Given the description of an element on the screen output the (x, y) to click on. 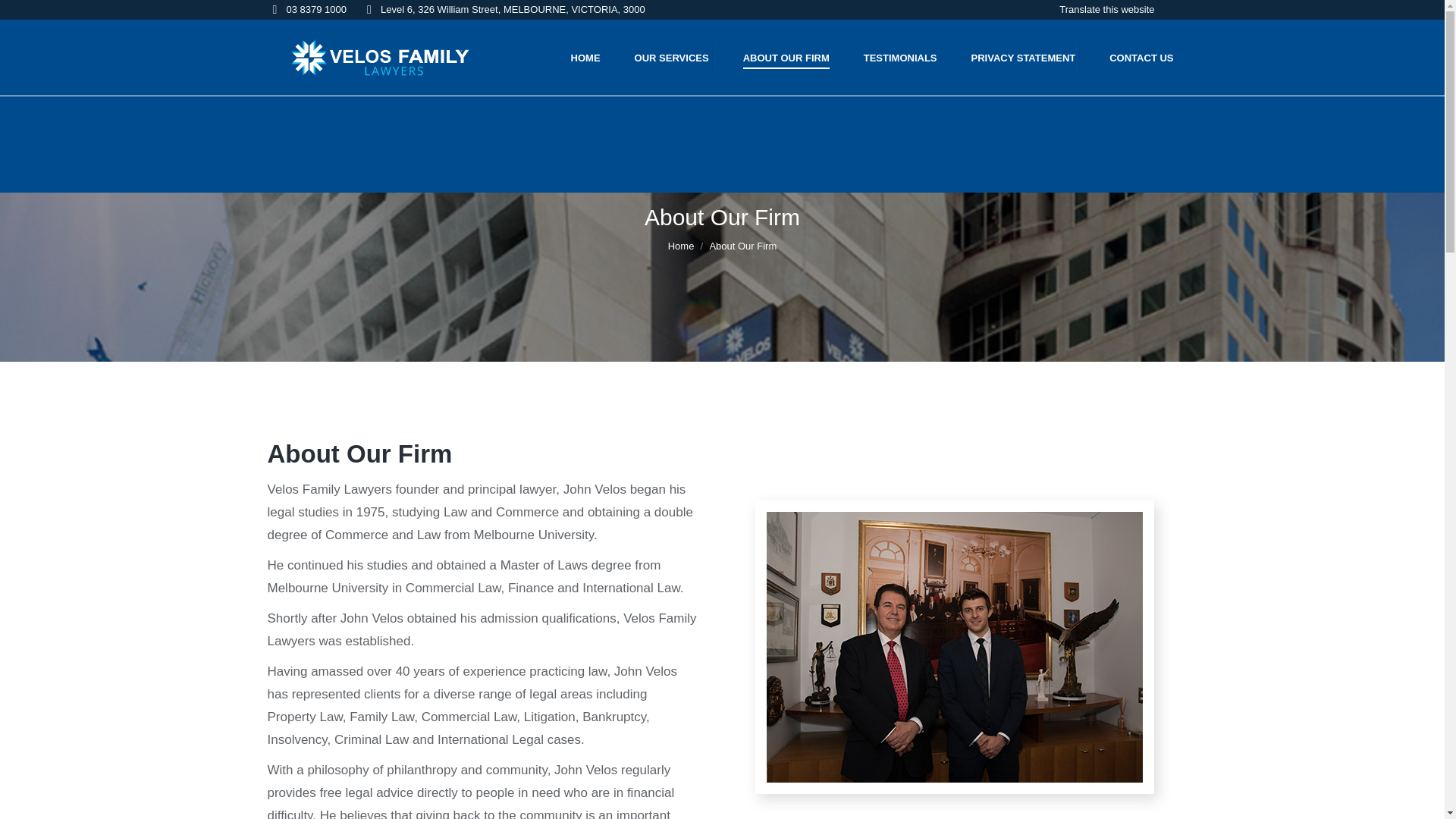
TESTIMONIALS (887, 57)
Home (681, 245)
HOME (571, 57)
Home (681, 245)
ABOUT OUR FIRM (772, 57)
OUR SERVICES (658, 57)
PRIVACY STATEMENT (1009, 57)
CONTACT US (1128, 57)
